Given the description of an element on the screen output the (x, y) to click on. 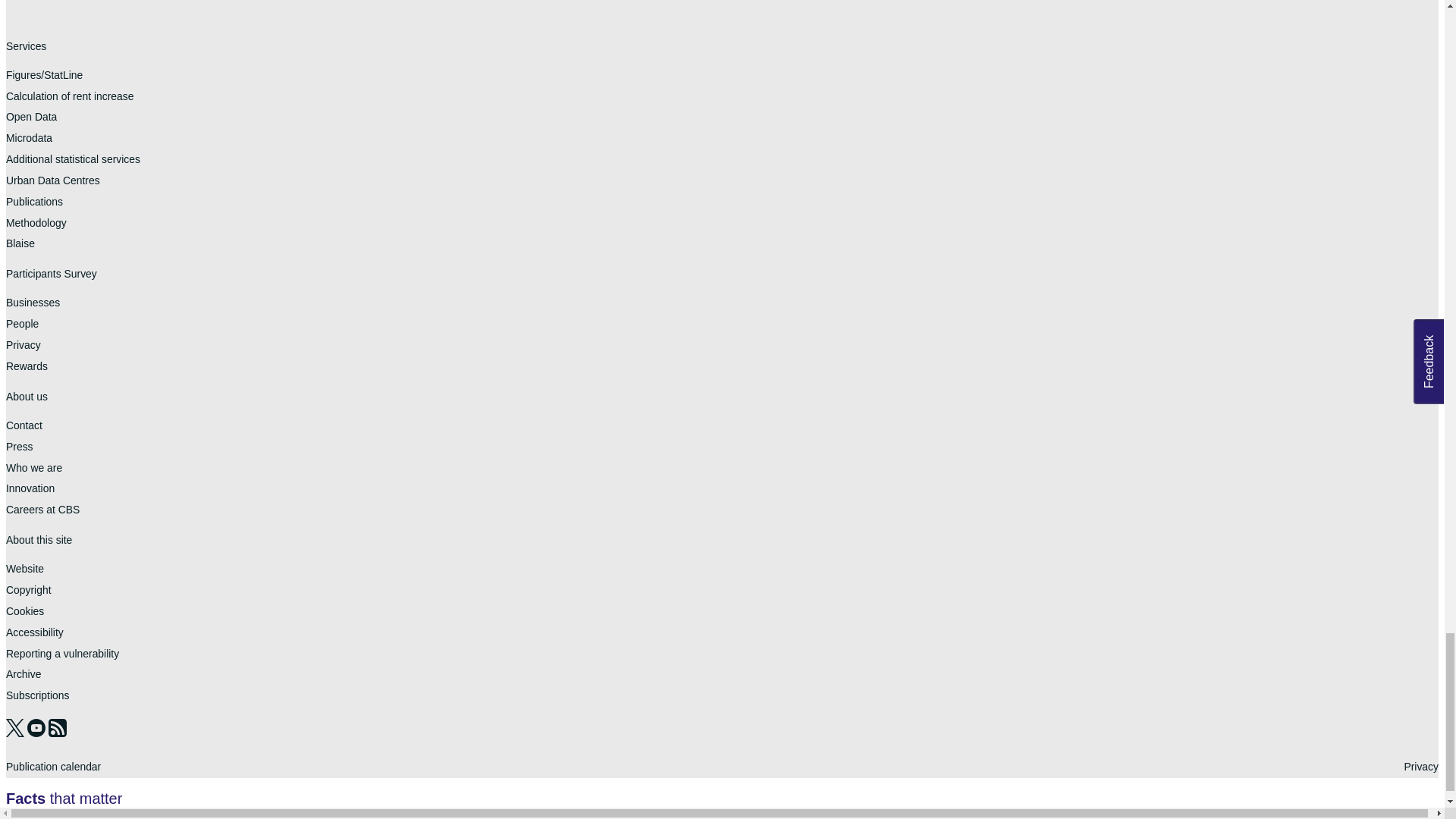
X (16, 733)
